Given the description of an element on the screen output the (x, y) to click on. 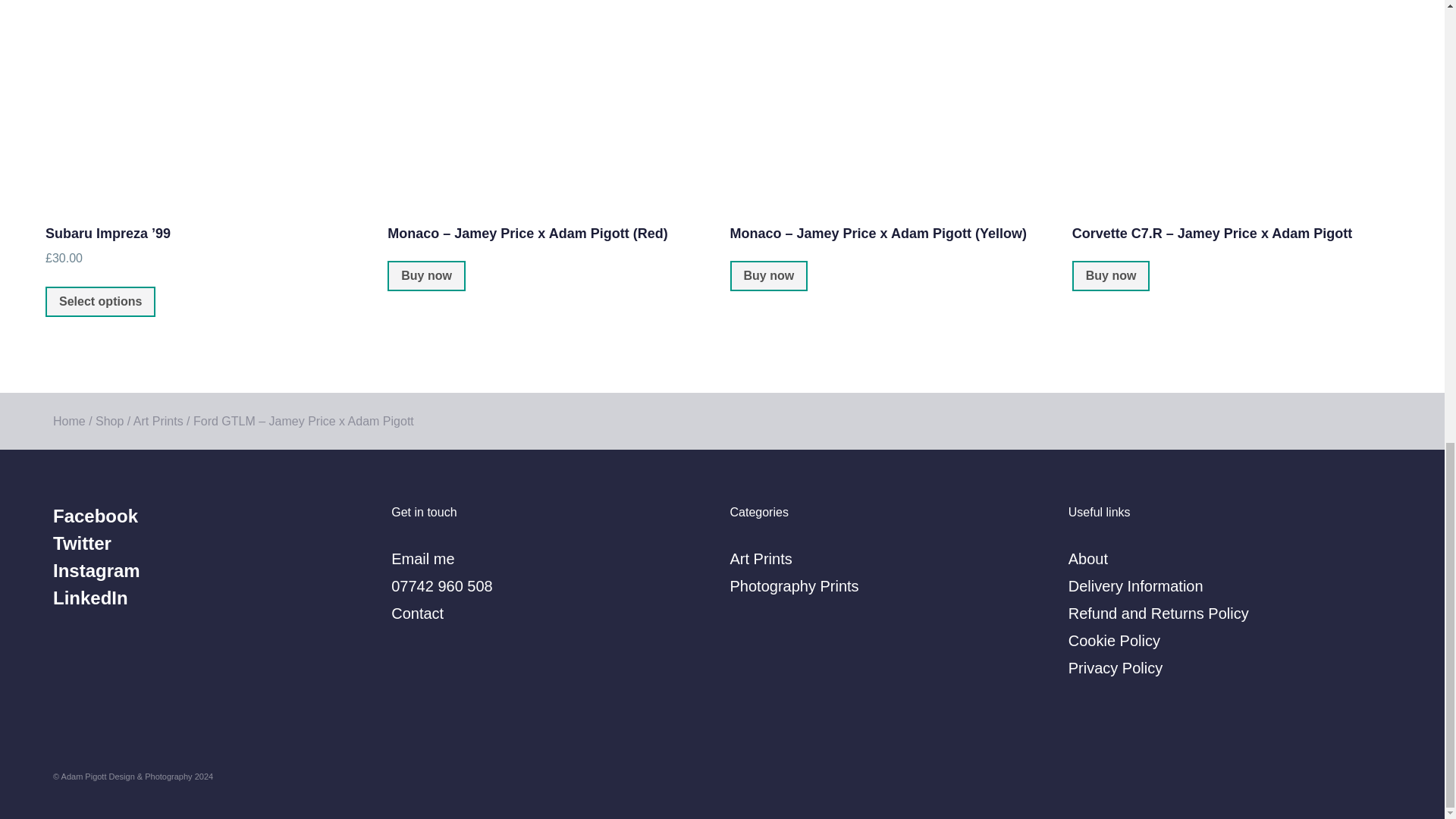
Buy now (768, 276)
Photography Prints (890, 585)
Refund and Returns Policy (1229, 613)
Buy now (426, 276)
Shop (109, 420)
Art Prints (890, 558)
Select options (100, 301)
Email me (552, 558)
Facebook (213, 515)
LinkedIn (213, 597)
